Given the description of an element on the screen output the (x, y) to click on. 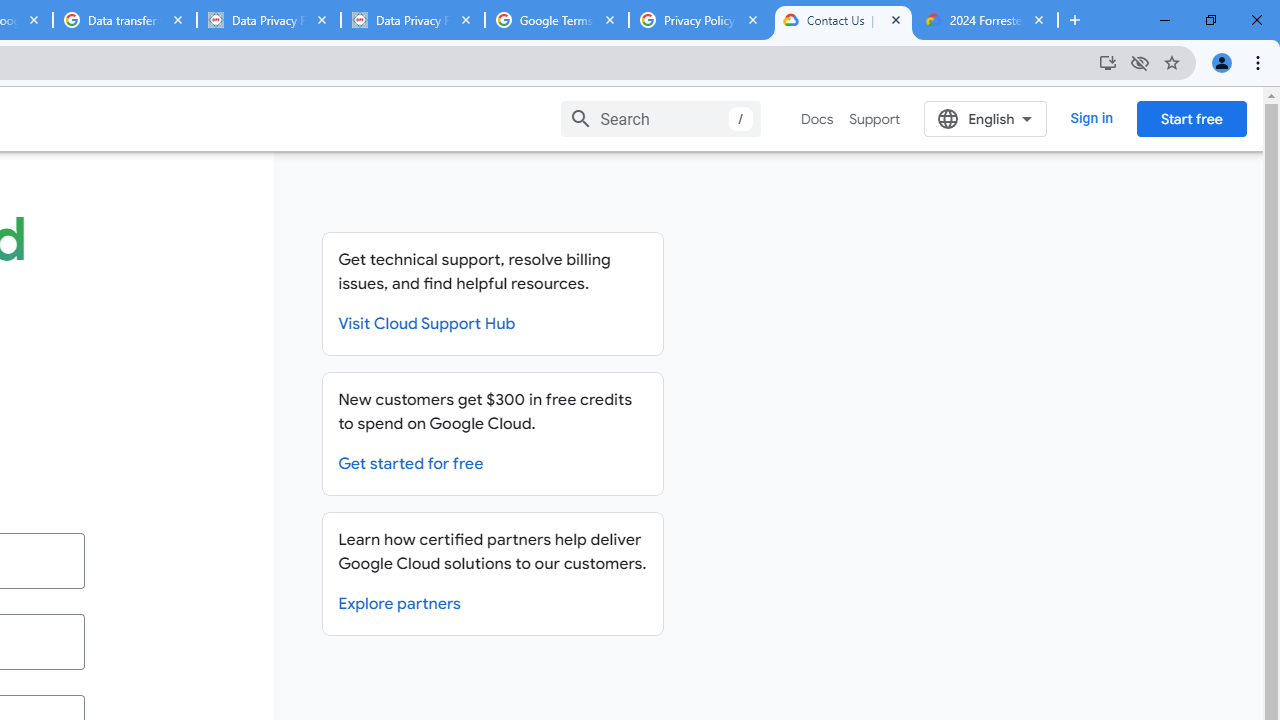
Support (874, 119)
English (985, 118)
Docs (817, 119)
